Given the description of an element on the screen output the (x, y) to click on. 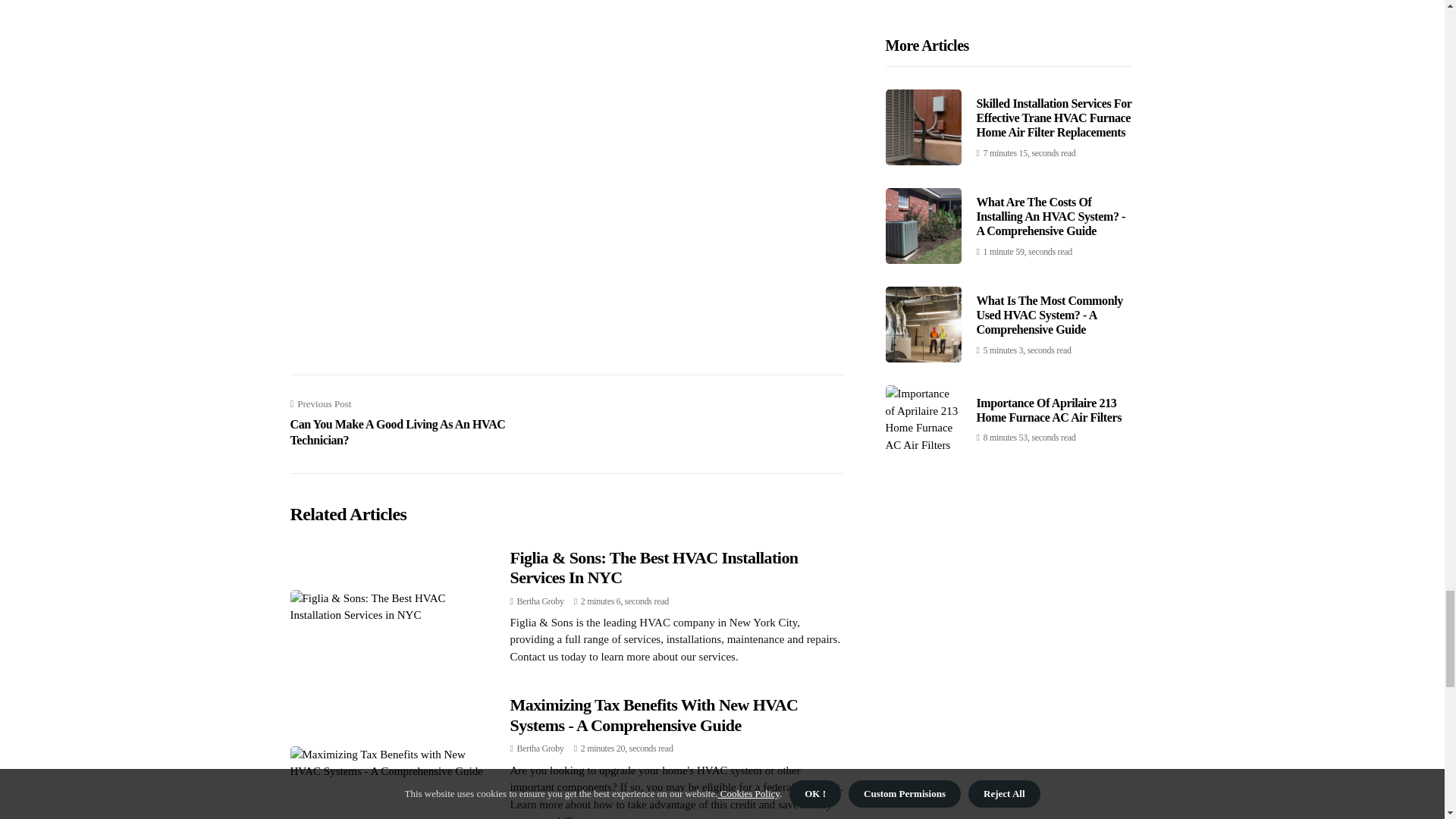
Bertha Groby (540, 601)
Bertha Groby (540, 747)
Posts by Bertha Groby (540, 747)
Posts by Bertha Groby (540, 601)
